Given the description of an element on the screen output the (x, y) to click on. 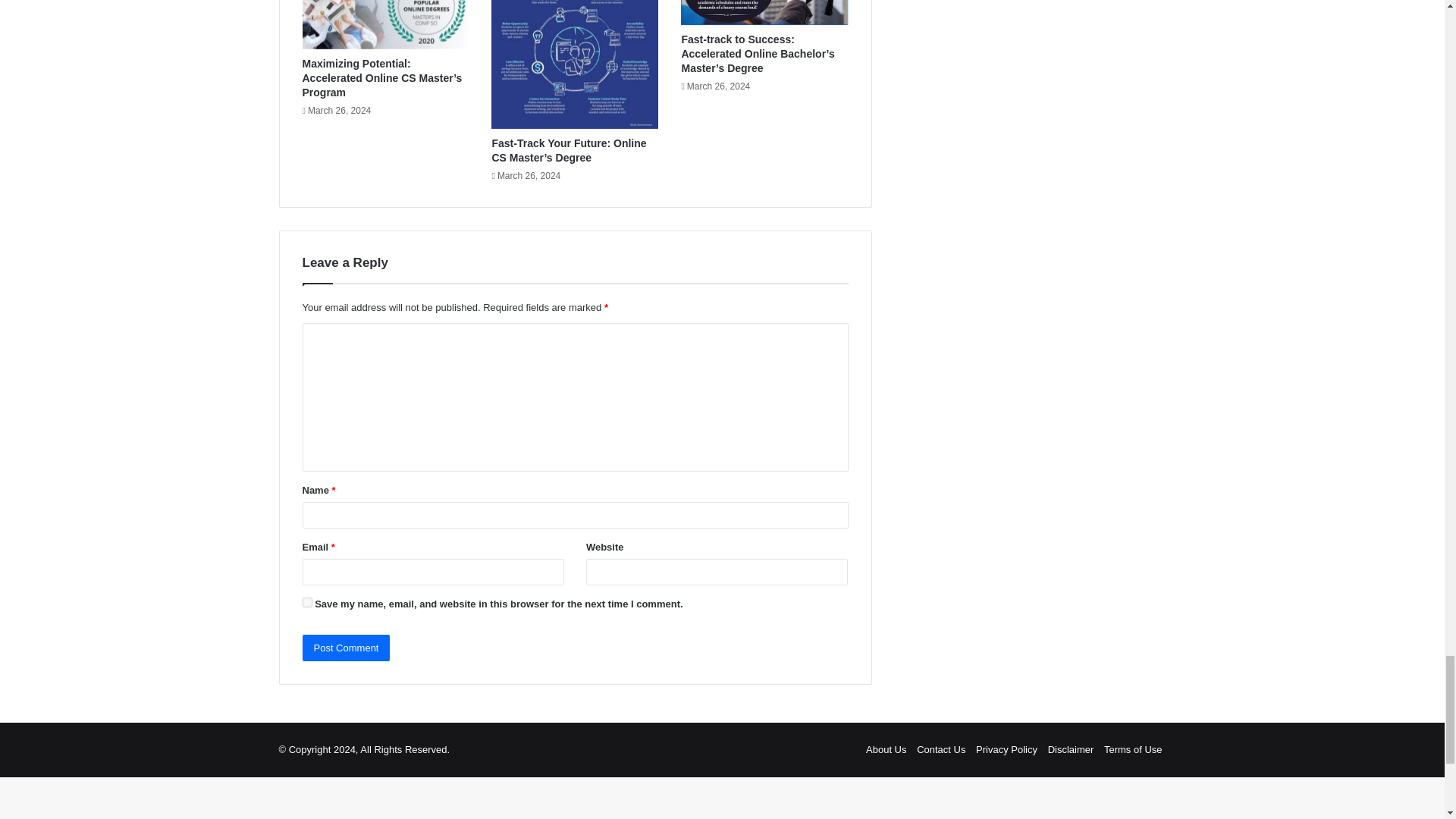
Post Comment (345, 647)
yes (306, 602)
